Given the description of an element on the screen output the (x, y) to click on. 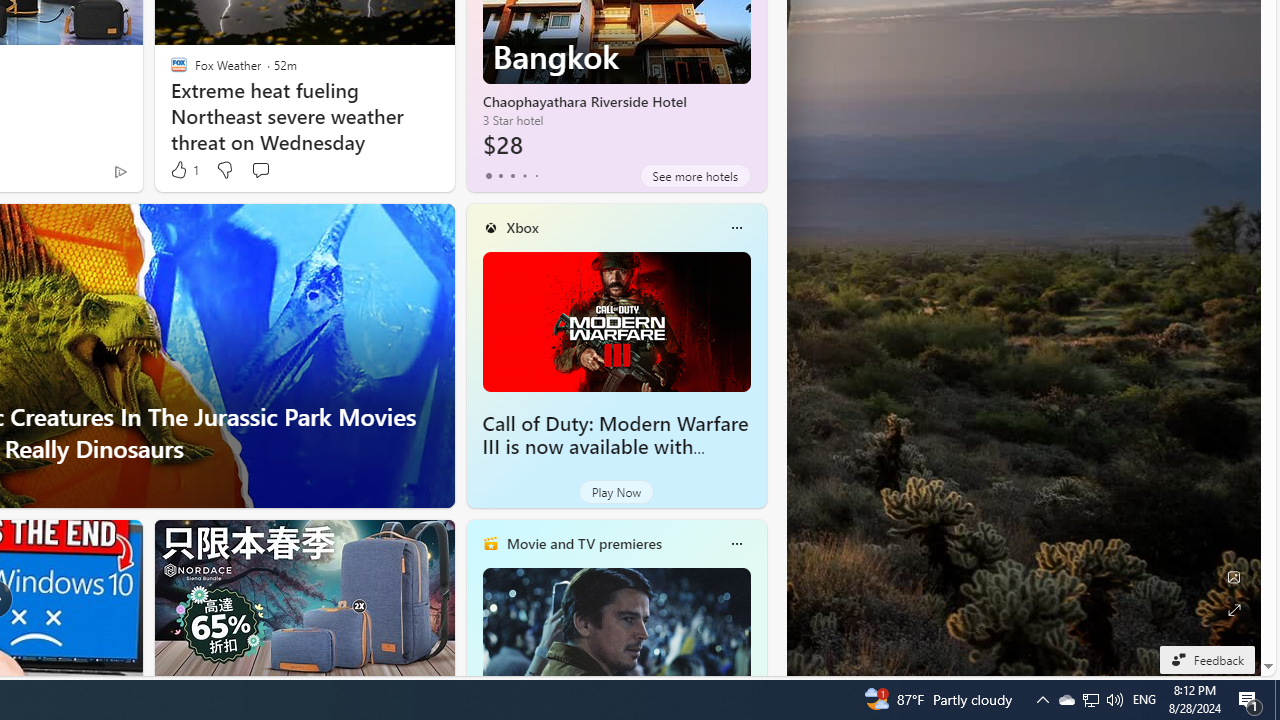
Xbox (521, 227)
tab-0 (488, 175)
tab-2 (511, 175)
Play Now (616, 491)
Expand background (1233, 610)
Edit Background (1233, 577)
See more hotels (694, 175)
tab-4 (535, 175)
